Given the description of an element on the screen output the (x, y) to click on. 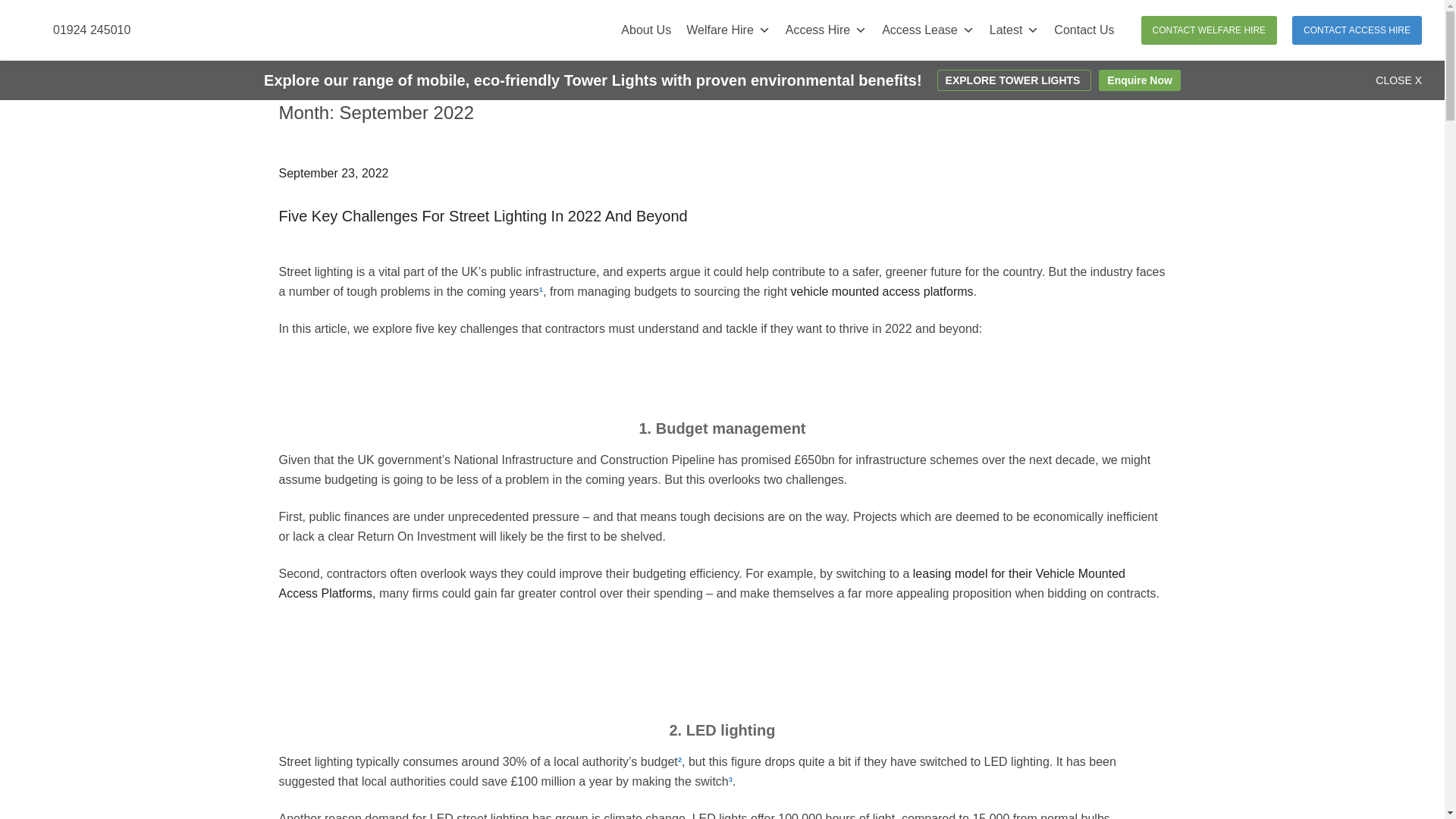
Welfare Hire (727, 30)
Access Lease (928, 30)
01924 245010 (91, 30)
Access Hire (826, 30)
